Given the description of an element on the screen output the (x, y) to click on. 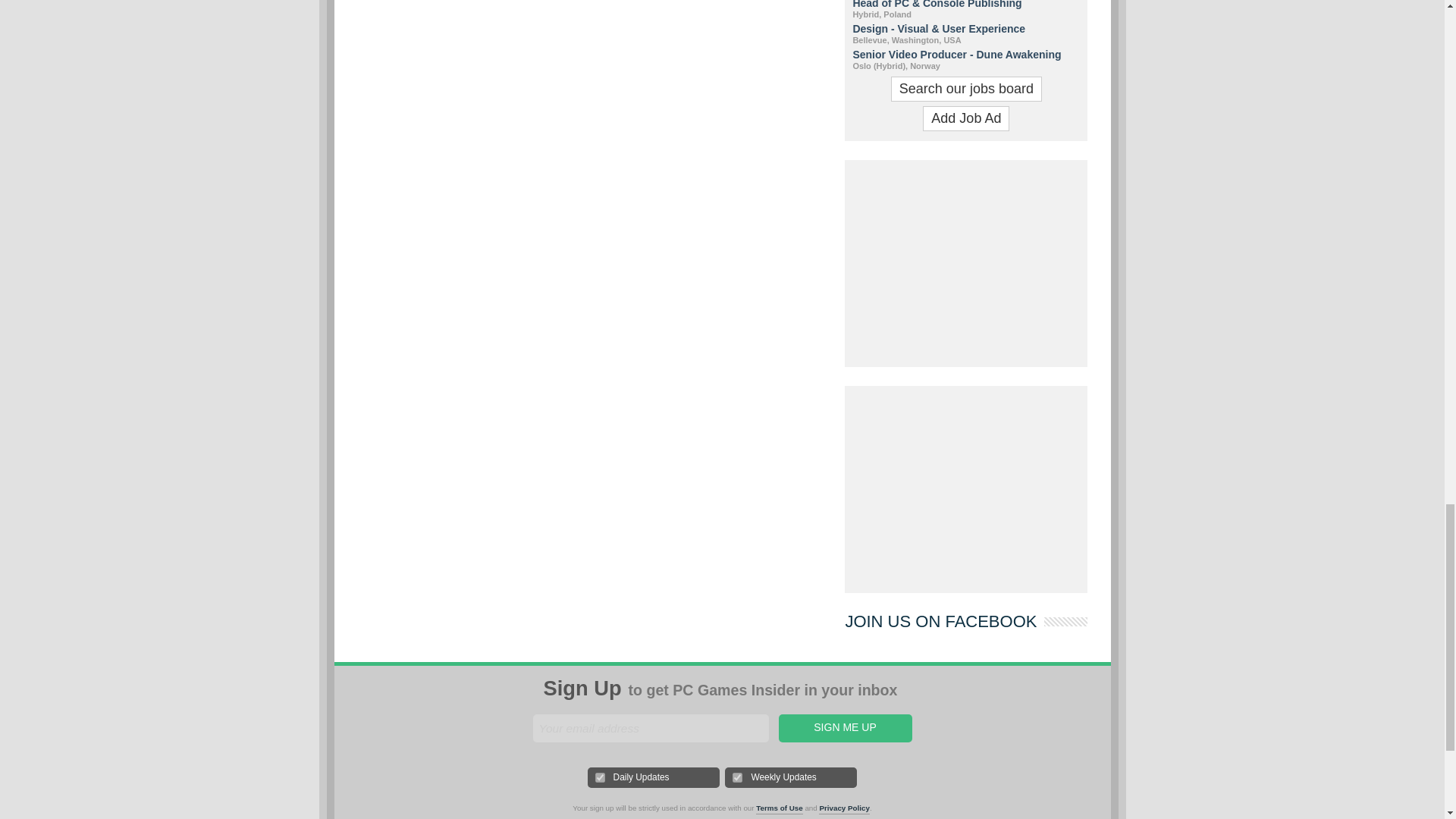
1 (600, 777)
2 (737, 777)
SIGN ME UP (844, 728)
